Given the description of an element on the screen output the (x, y) to click on. 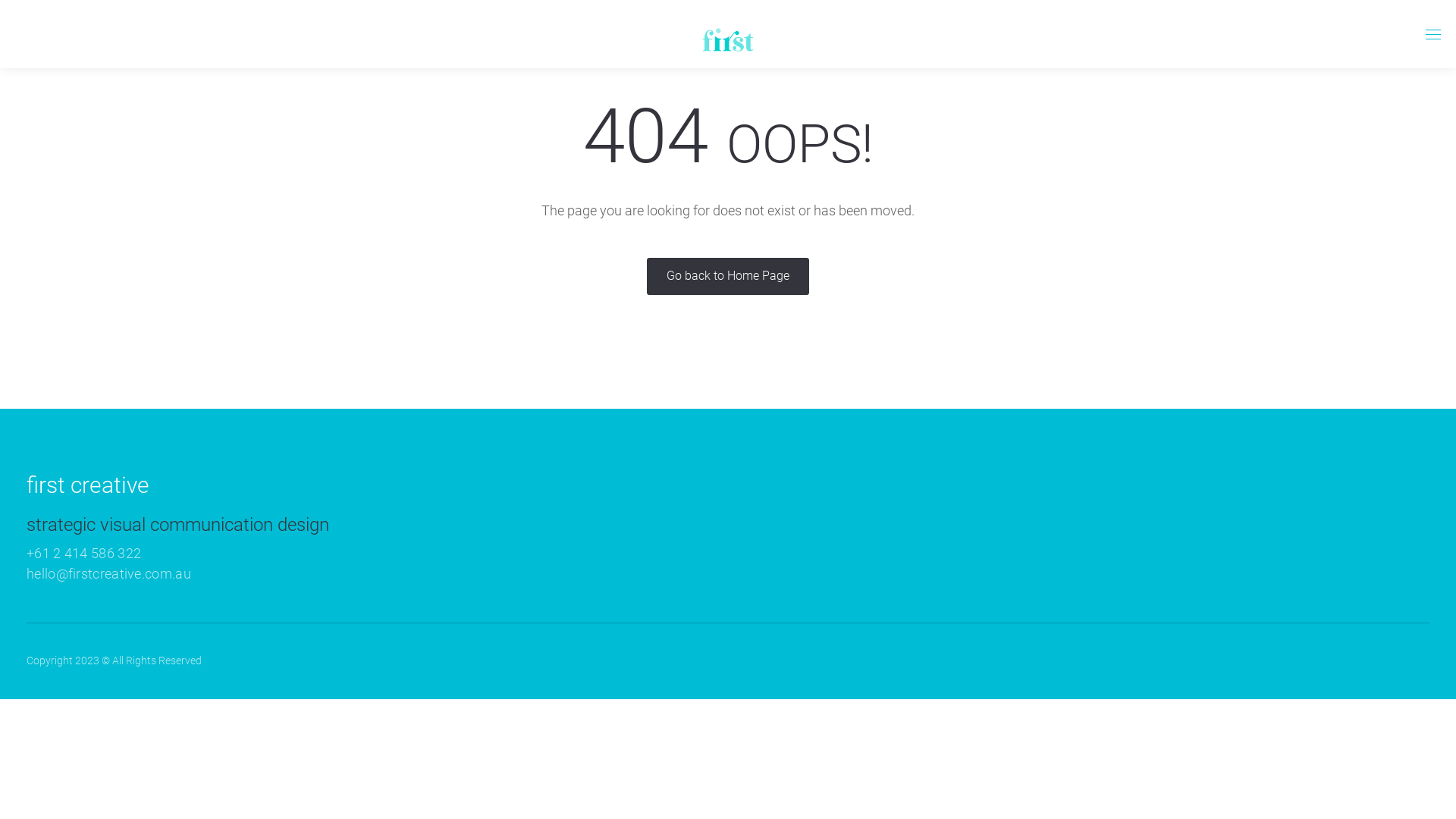
hello@firstcreative.com.au Element type: text (108, 573)
+61 2 414 586 322 Element type: text (727, 553)
Go back to Home Page Element type: text (727, 275)
